Given the description of an element on the screen output the (x, y) to click on. 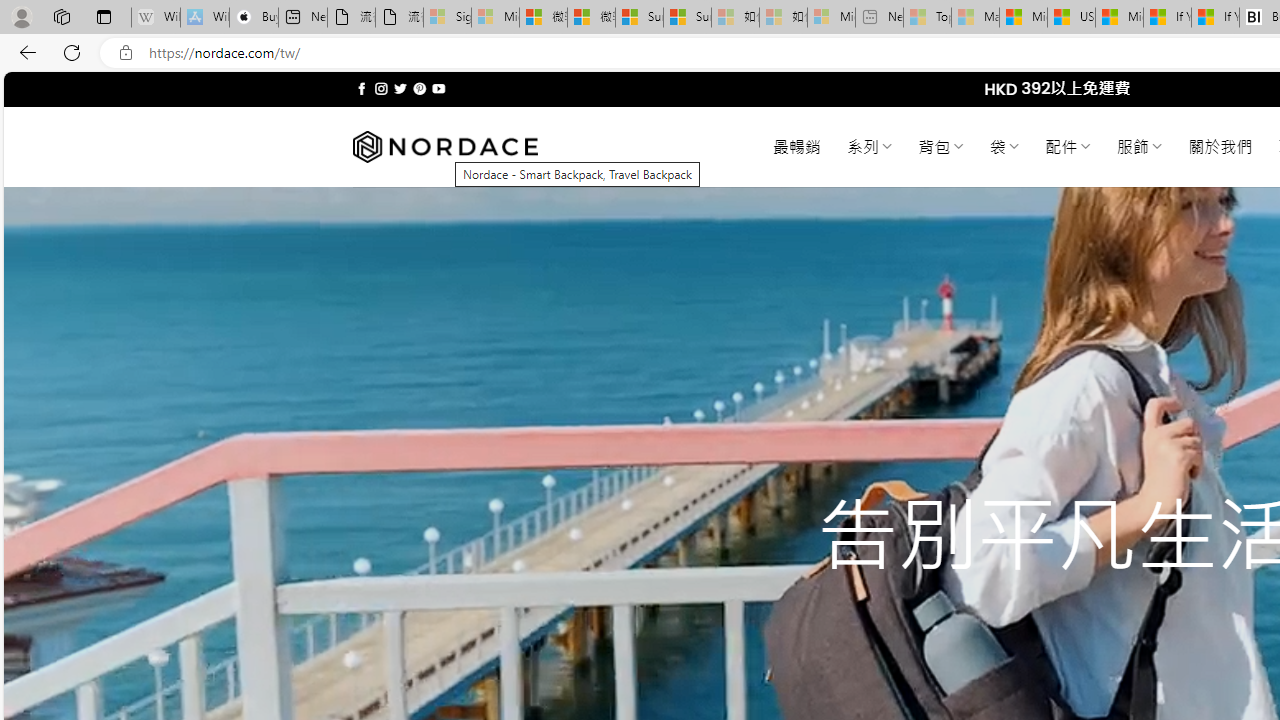
Top Stories - MSN - Sleeping (927, 17)
Sign in to your Microsoft account - Sleeping (447, 17)
